Given the description of an element on the screen output the (x, y) to click on. 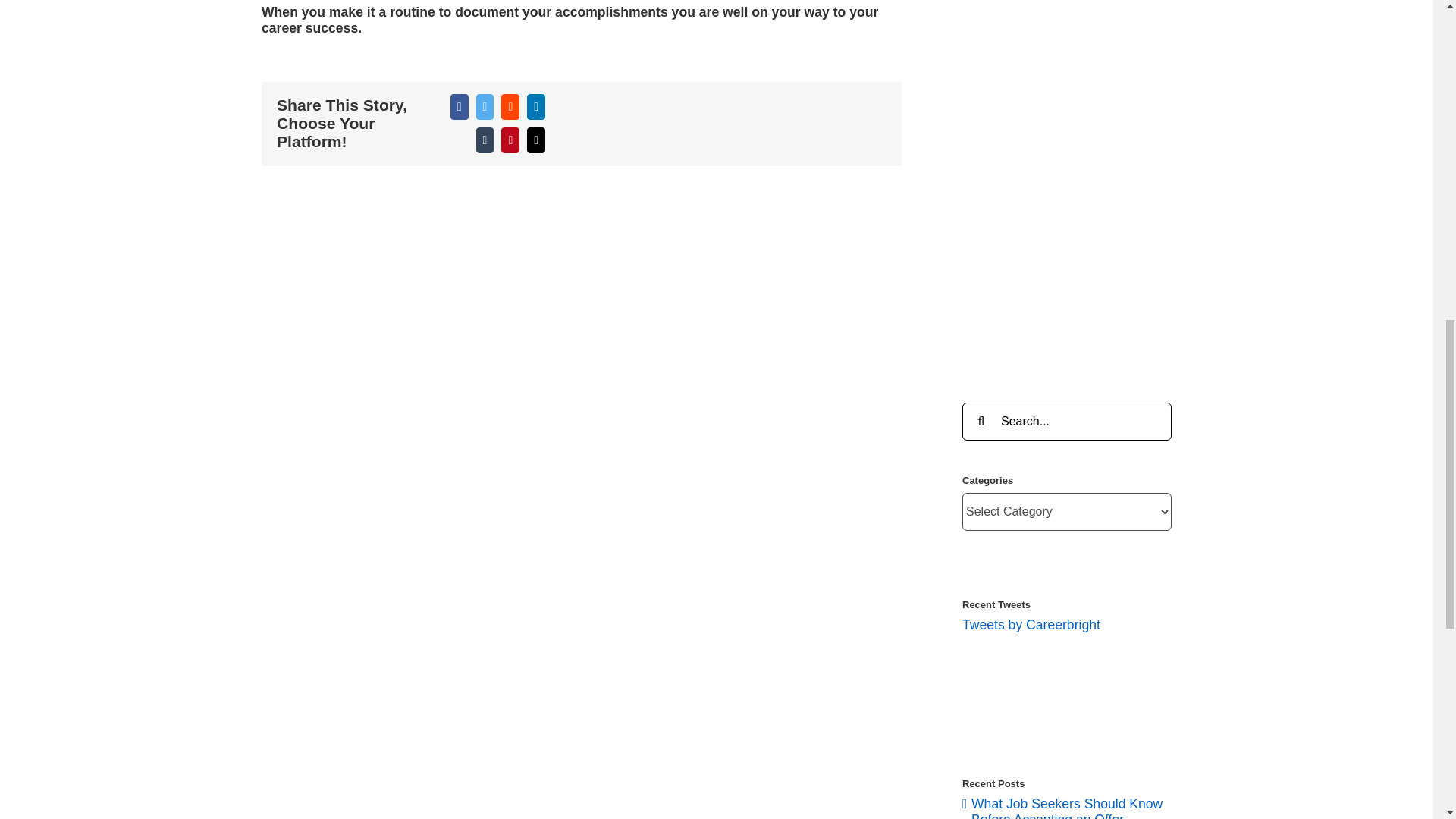
What Job Seekers Should Know Before Accepting an Offer (1066, 807)
Tweets by Careerbright (1031, 624)
